Given the description of an element on the screen output the (x, y) to click on. 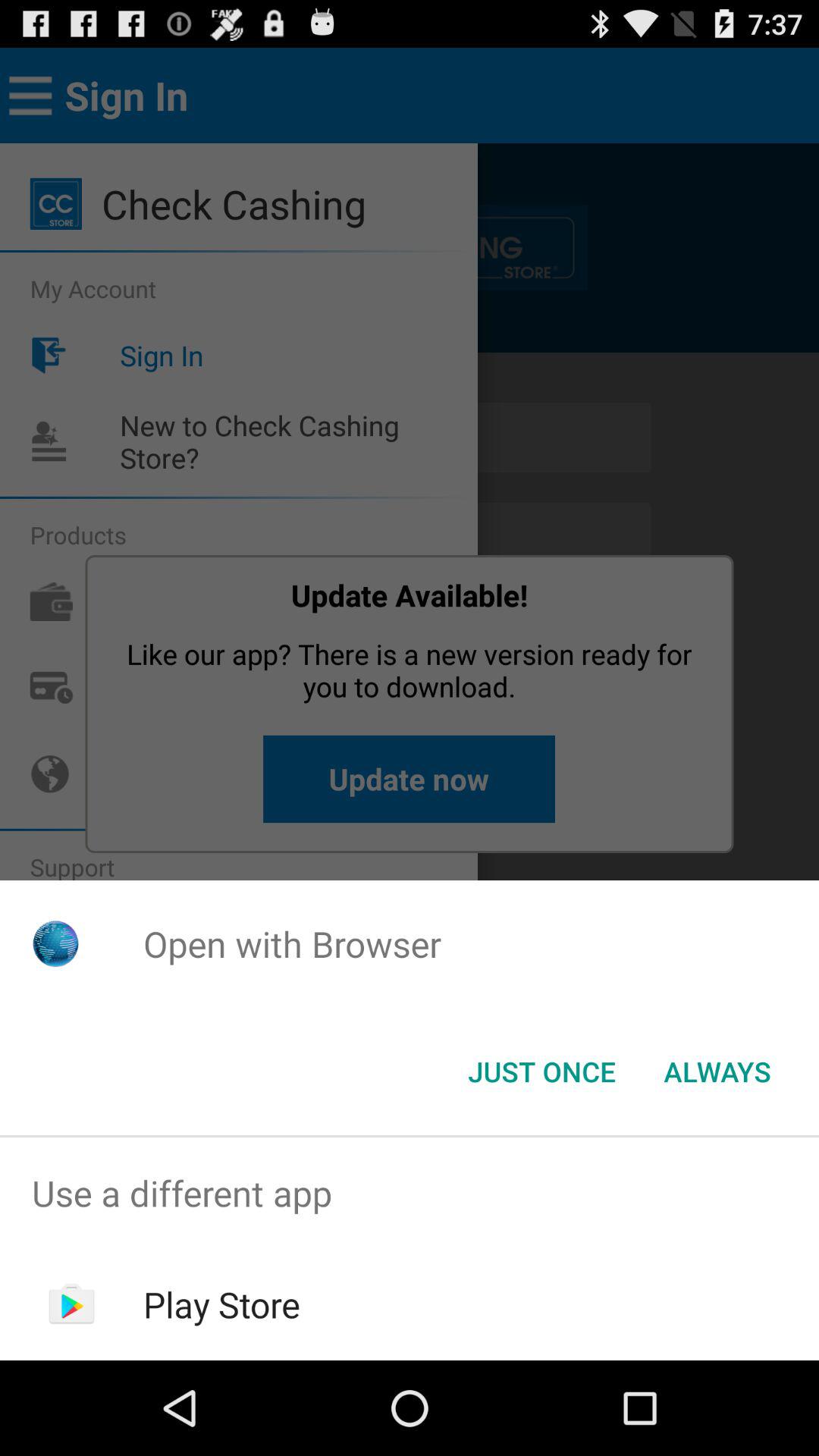
jump until play store item (221, 1304)
